Given the description of an element on the screen output the (x, y) to click on. 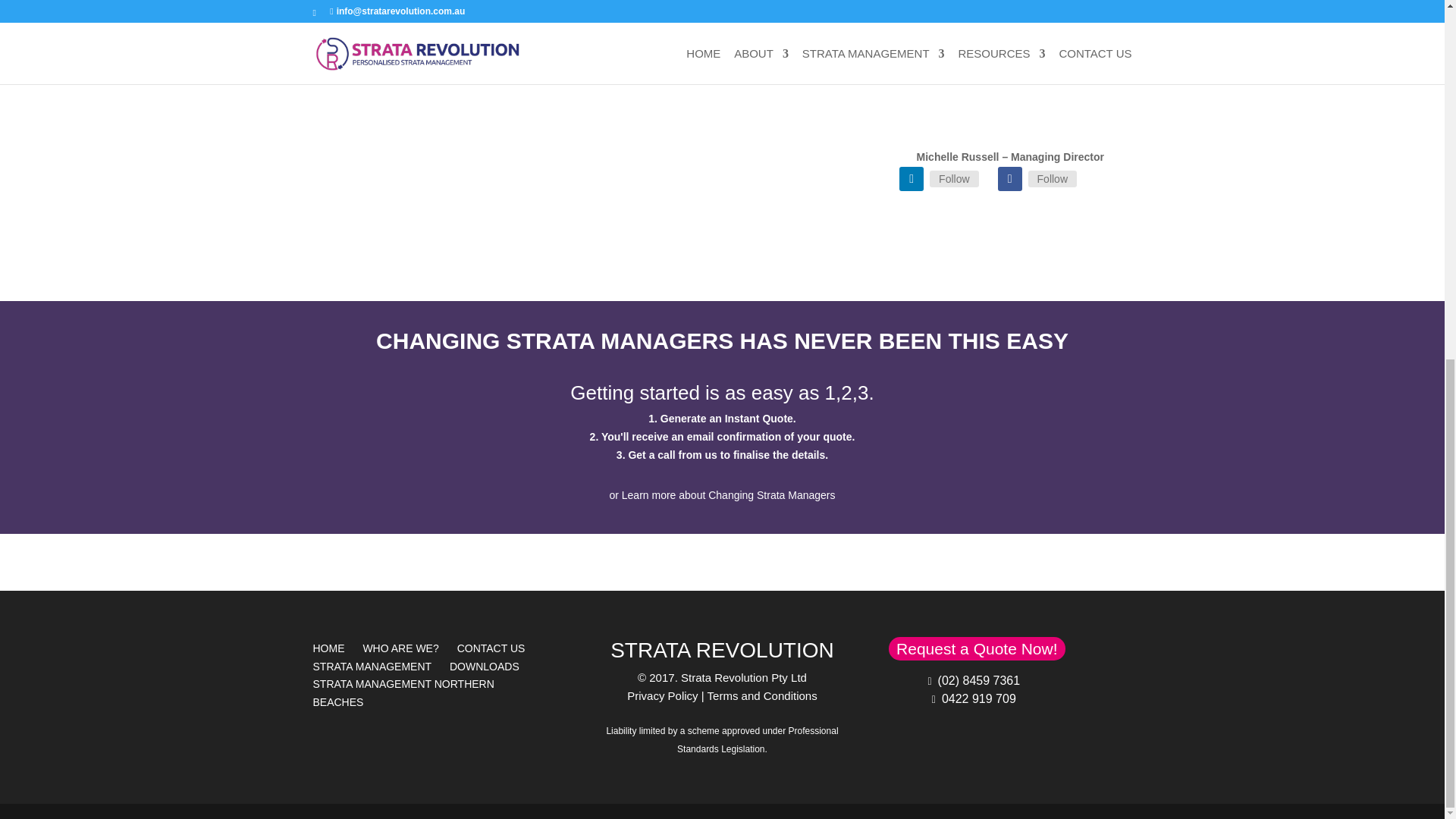
Facebook (1009, 178)
LinkedIn (911, 178)
Facebook (1052, 178)
LinkedIn (954, 178)
